Given the description of an element on the screen output the (x, y) to click on. 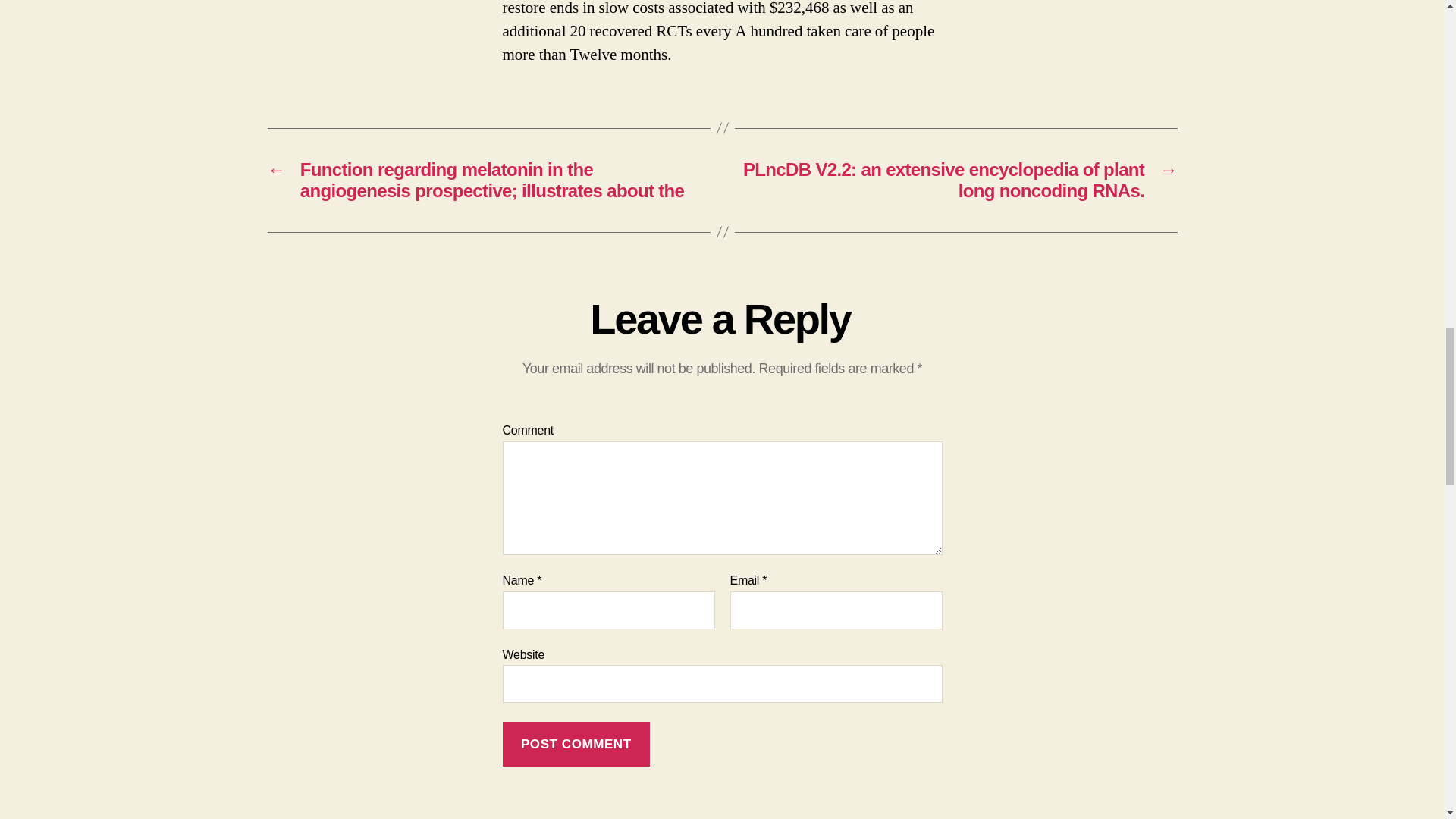
Post Comment (575, 743)
